Given the description of an element on the screen output the (x, y) to click on. 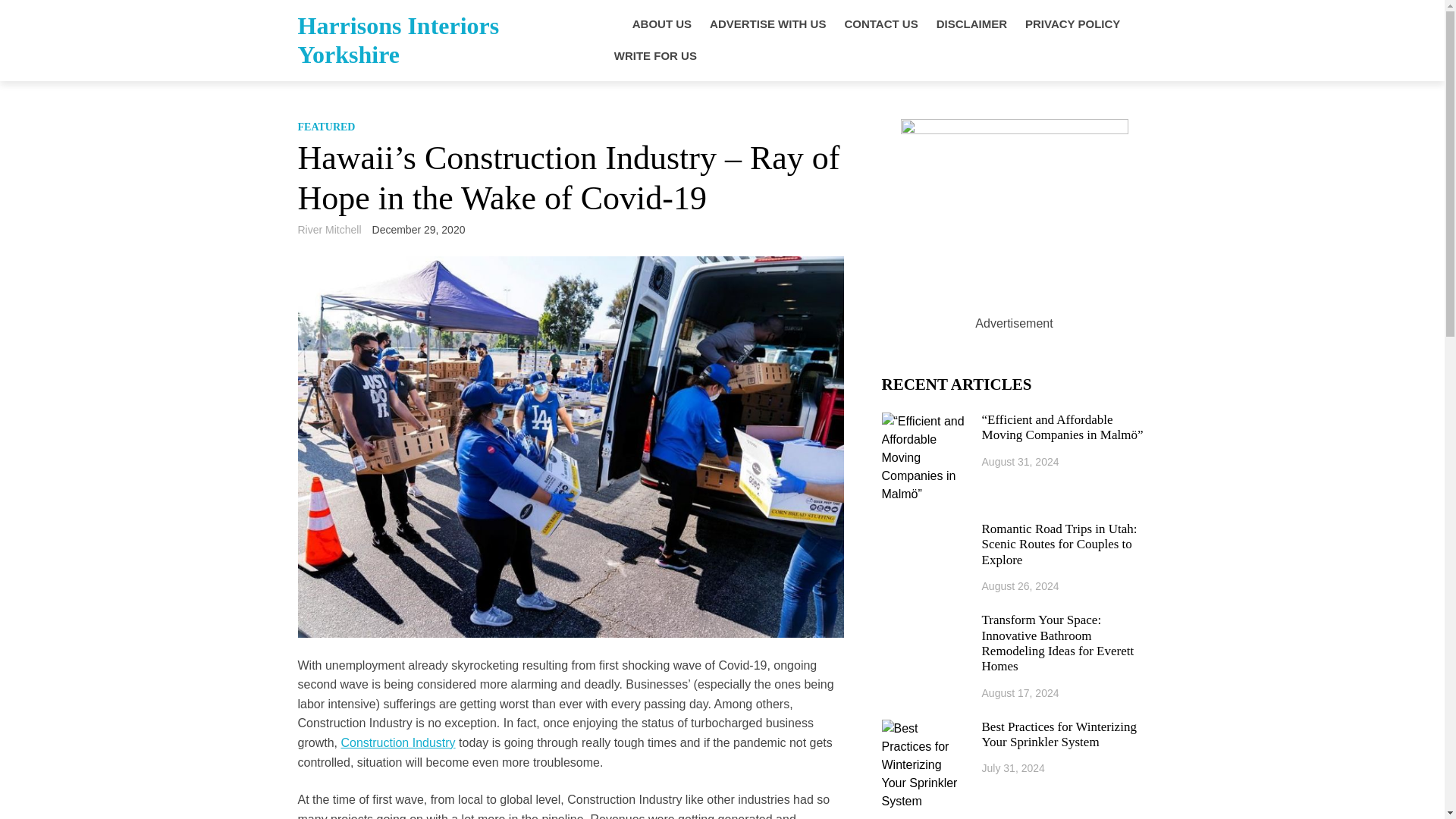
August 26, 2024 (1020, 585)
ABOUT US (661, 24)
ADVERTISE WITH US (767, 24)
Best Practices for Winterizing Your Sprinkler System (1064, 735)
CONTACT US (880, 24)
PRIVACY POLICY (1072, 24)
August 17, 2024 (1020, 693)
Harrisons Interiors Yorkshire (398, 39)
FEATURED (326, 126)
